Given the description of an element on the screen output the (x, y) to click on. 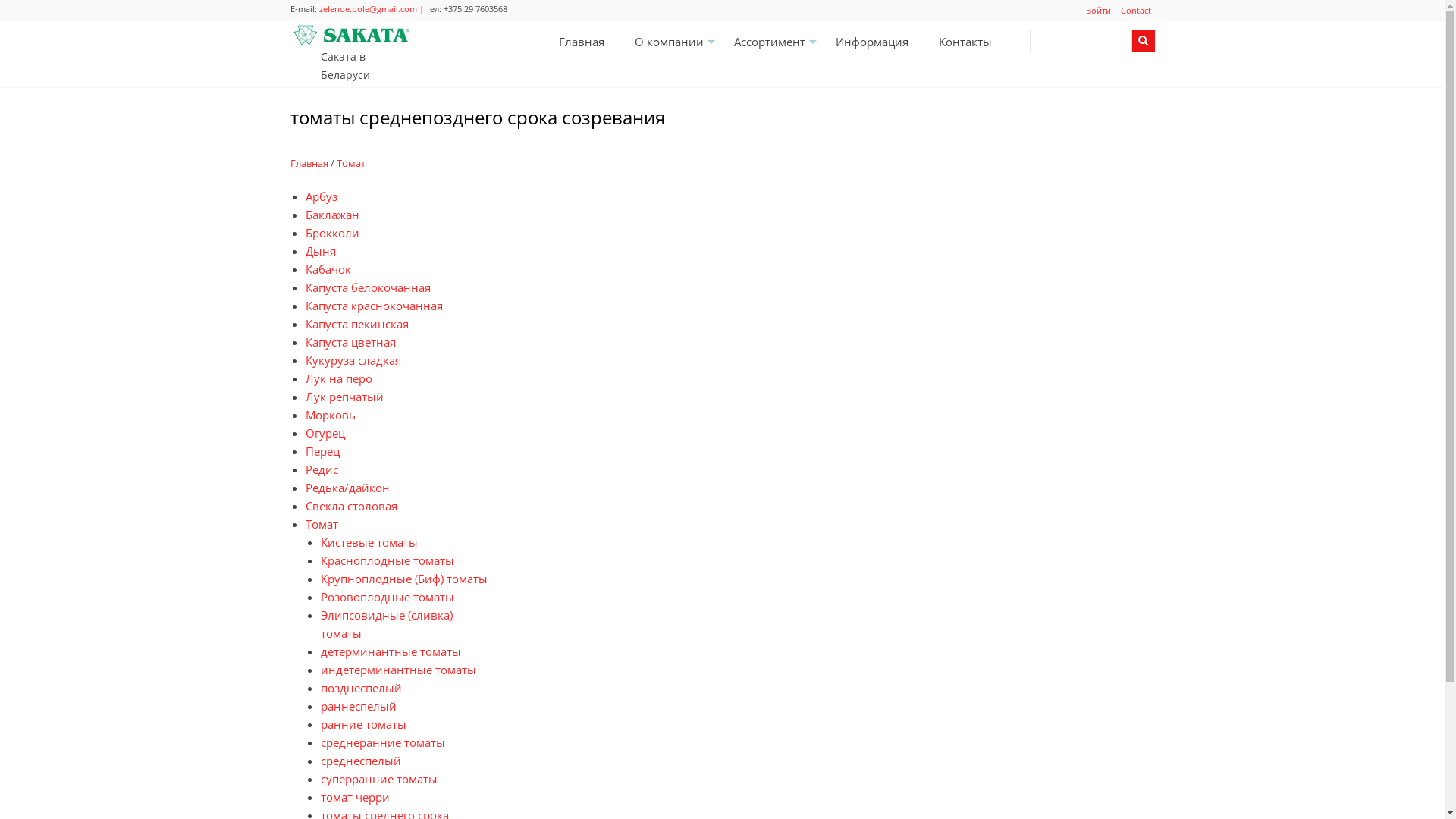
Search Element type: text (1142, 40)
zelenoe.pole@gmail.com Element type: text (367, 8)
Contact Element type: text (1135, 10)
